Given the description of an element on the screen output the (x, y) to click on. 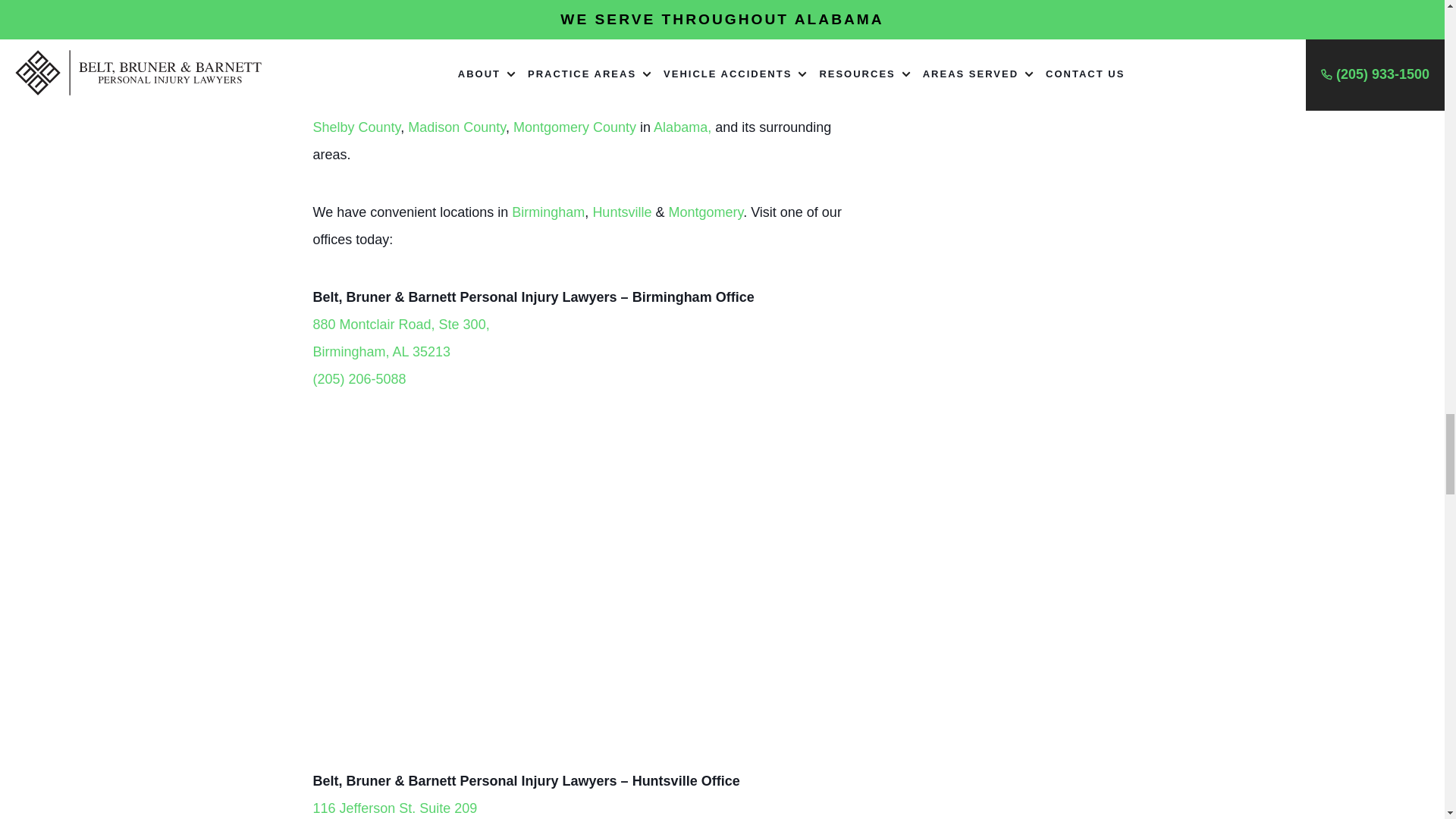
Huntsville (621, 212)
Shelby County (356, 127)
Birmingham (401, 337)
contact (548, 212)
Alabama, (513, 72)
Montgomery County (682, 127)
Madison County (574, 127)
Montgomery (456, 127)
